Given the description of an element on the screen output the (x, y) to click on. 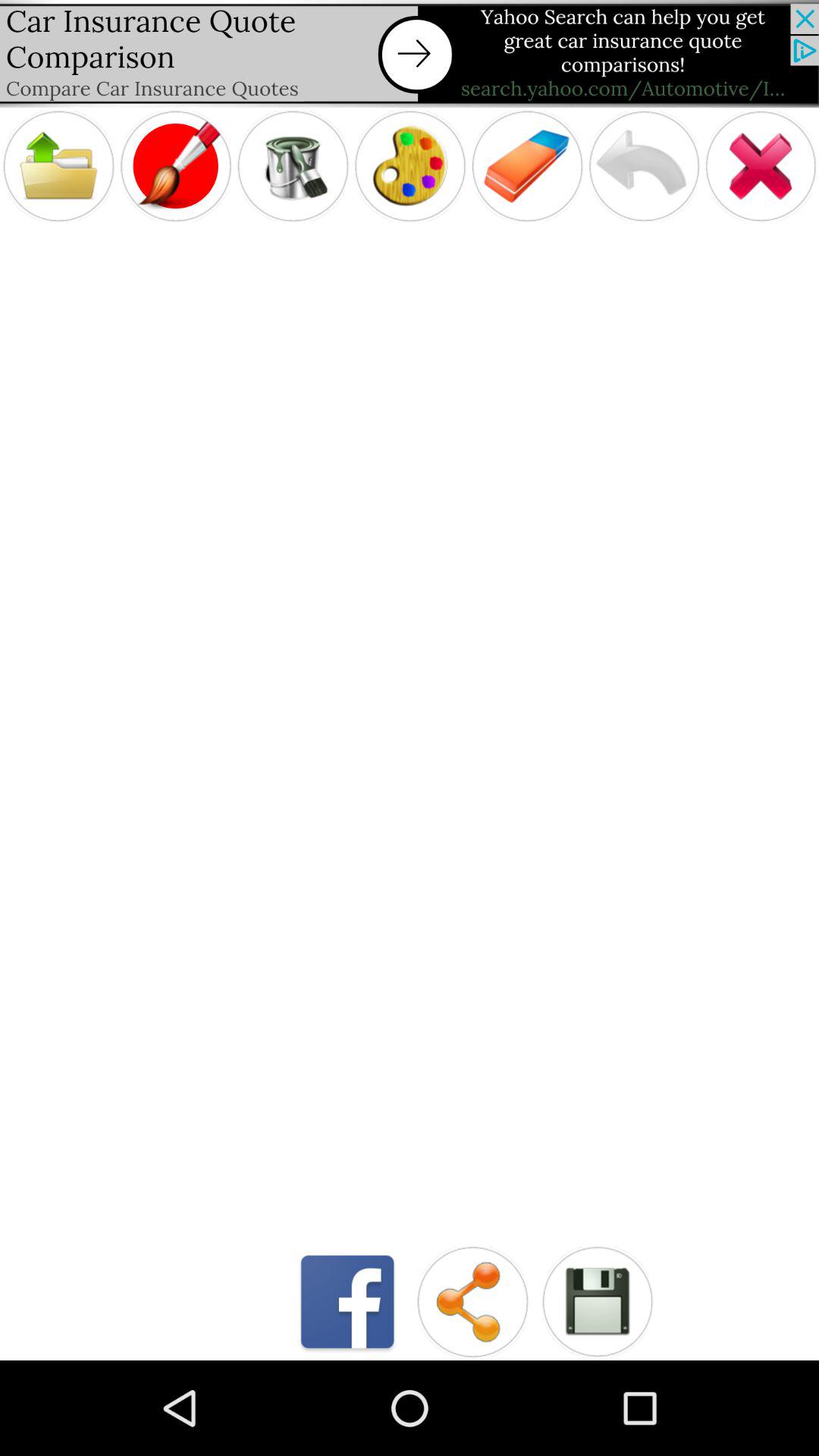
opens an advertisement (409, 53)
